Given the description of an element on the screen output the (x, y) to click on. 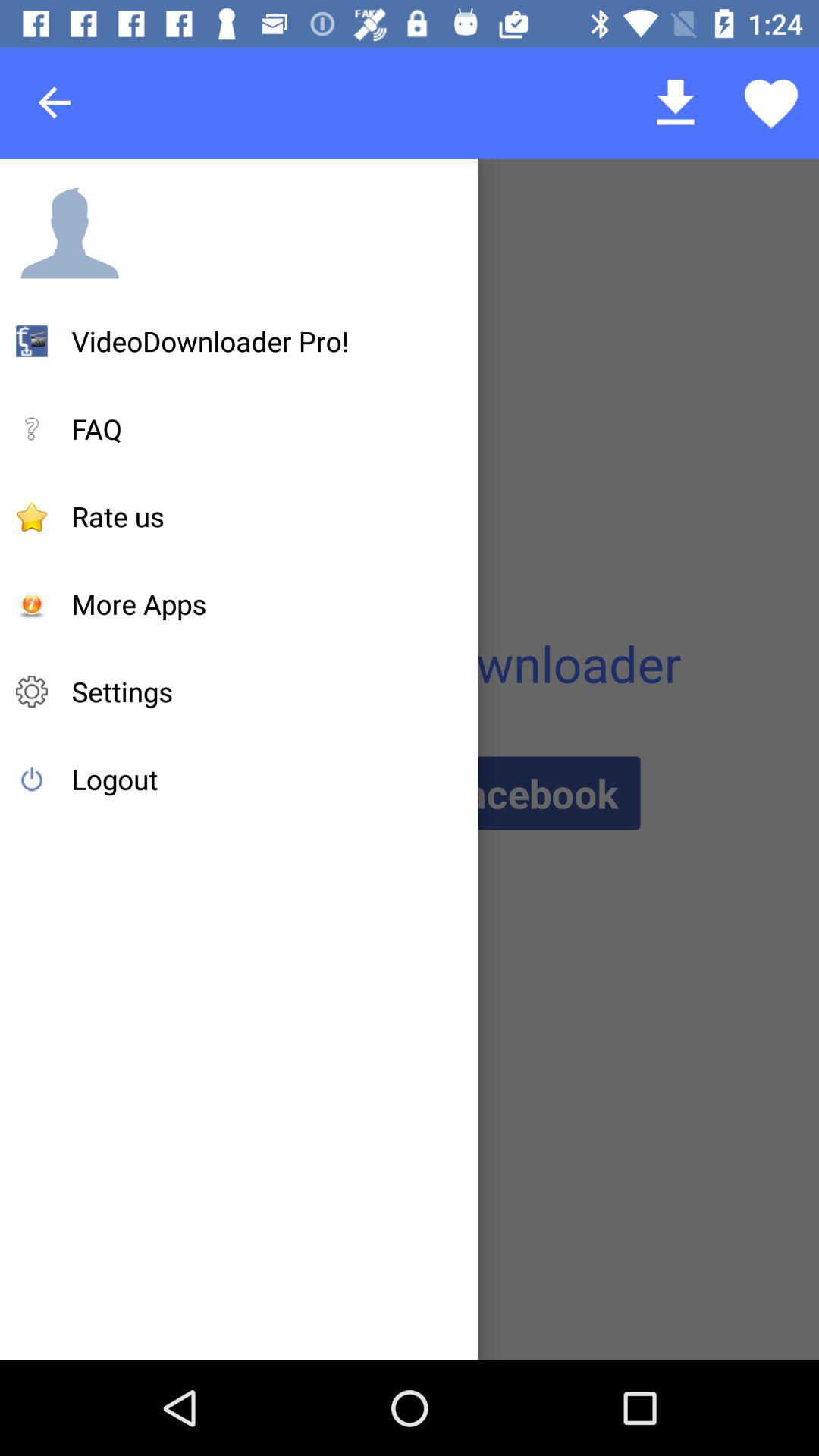
jump until more apps item (138, 603)
